Given the description of an element on the screen output the (x, y) to click on. 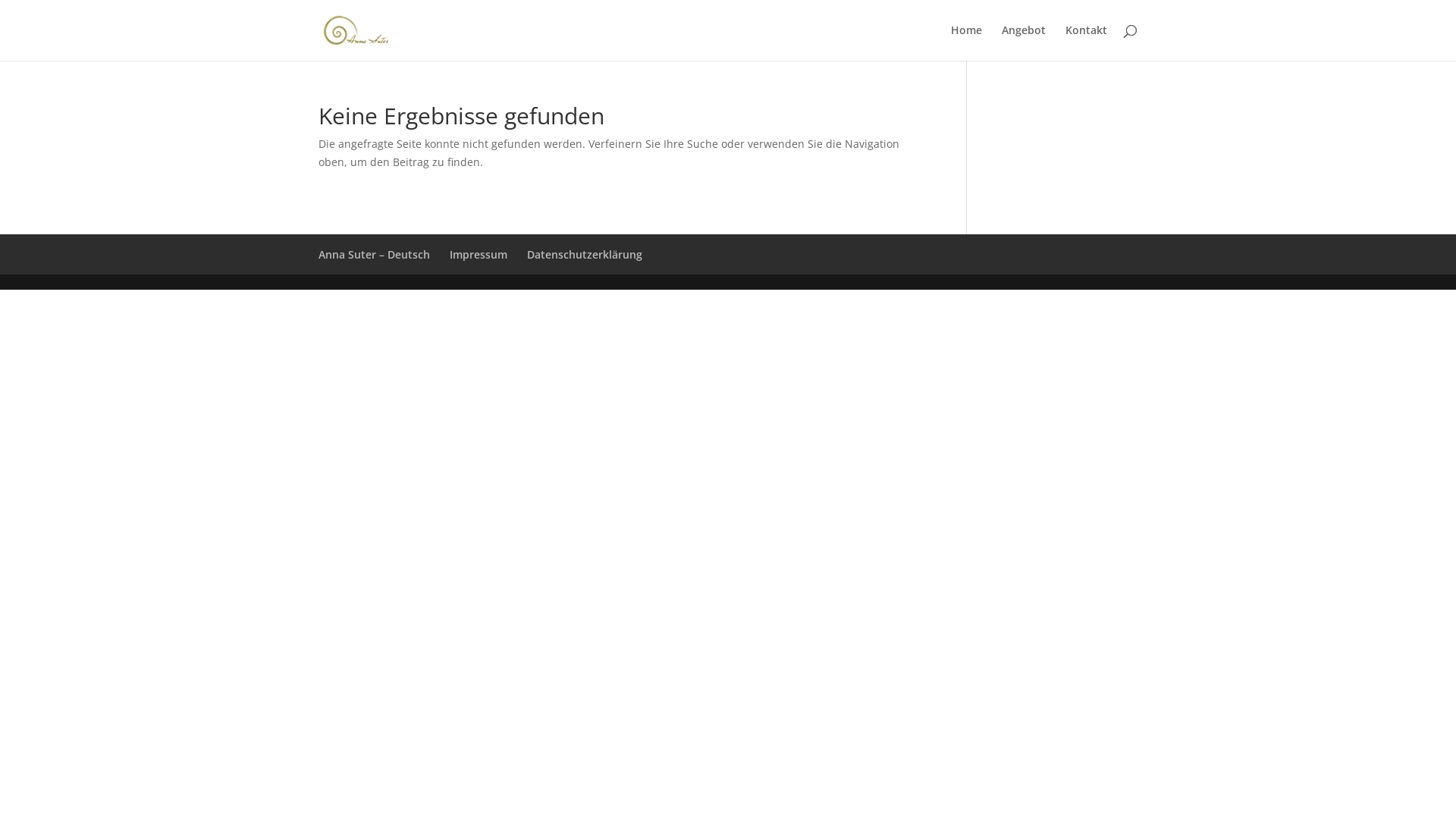
Impressum Element type: text (478, 254)
Angebot Element type: text (1023, 42)
Home Element type: text (966, 42)
Kontakt Element type: text (1086, 42)
